Given the description of an element on the screen output the (x, y) to click on. 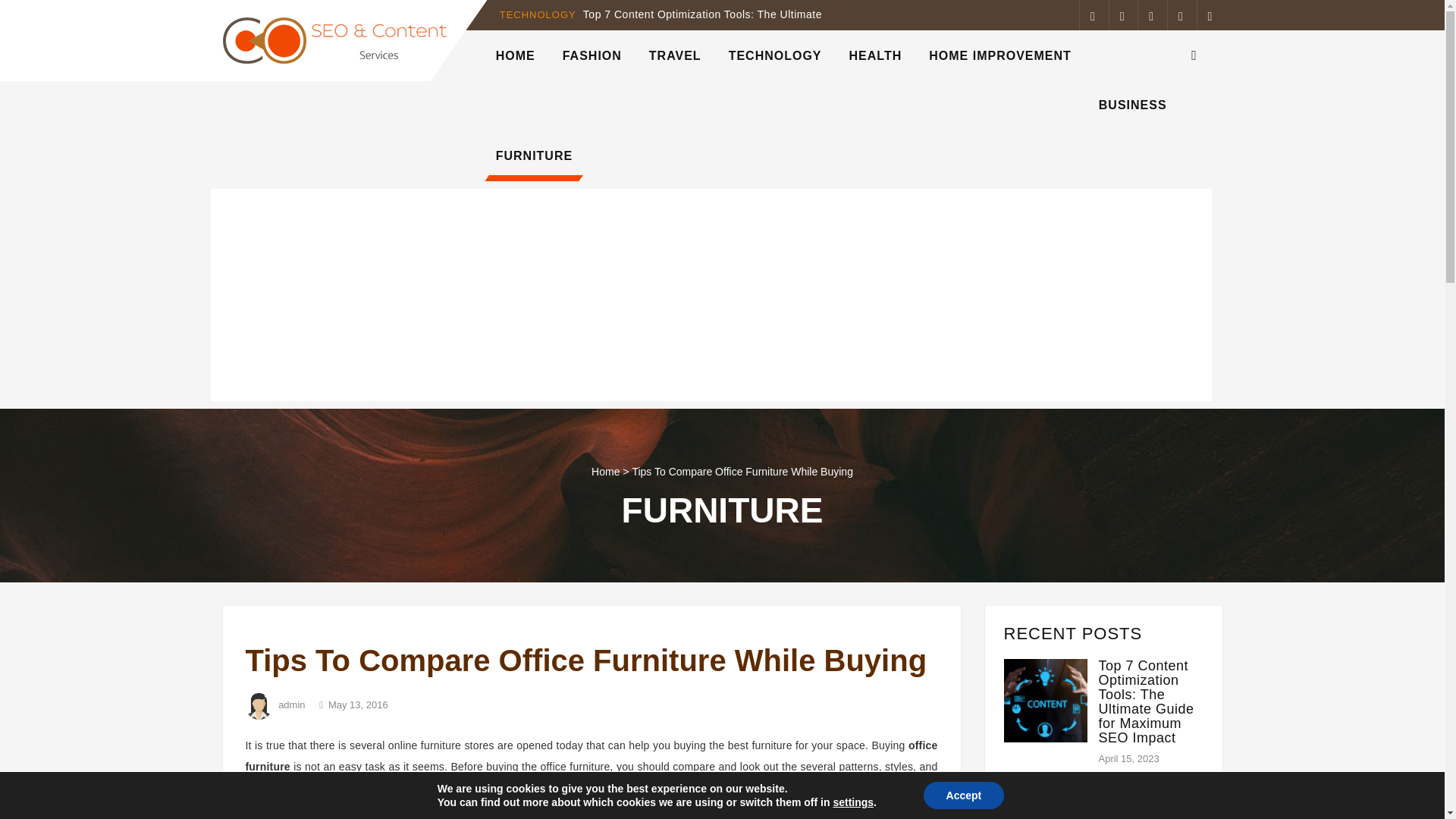
HOME (514, 55)
TECHNOLOGY (774, 55)
FASHION (591, 55)
HOME IMPROVEMENT (999, 55)
FURNITURE (533, 155)
HEALTH (875, 55)
